Given the description of an element on the screen output the (x, y) to click on. 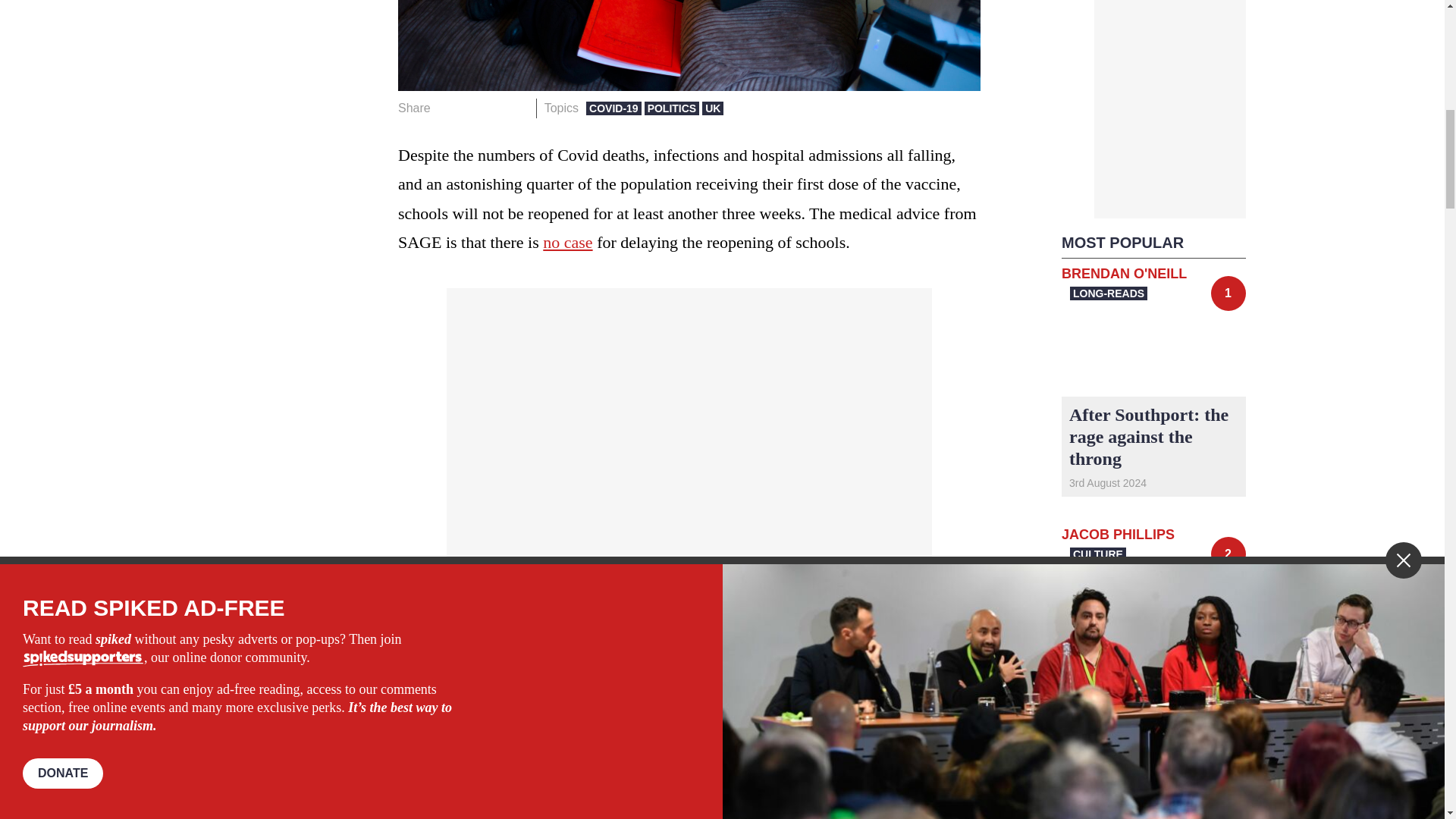
Share on Twitter (471, 107)
Share on Whatsapp (494, 107)
Share on Facebook (448, 107)
Share on Email (518, 107)
